Given the description of an element on the screen output the (x, y) to click on. 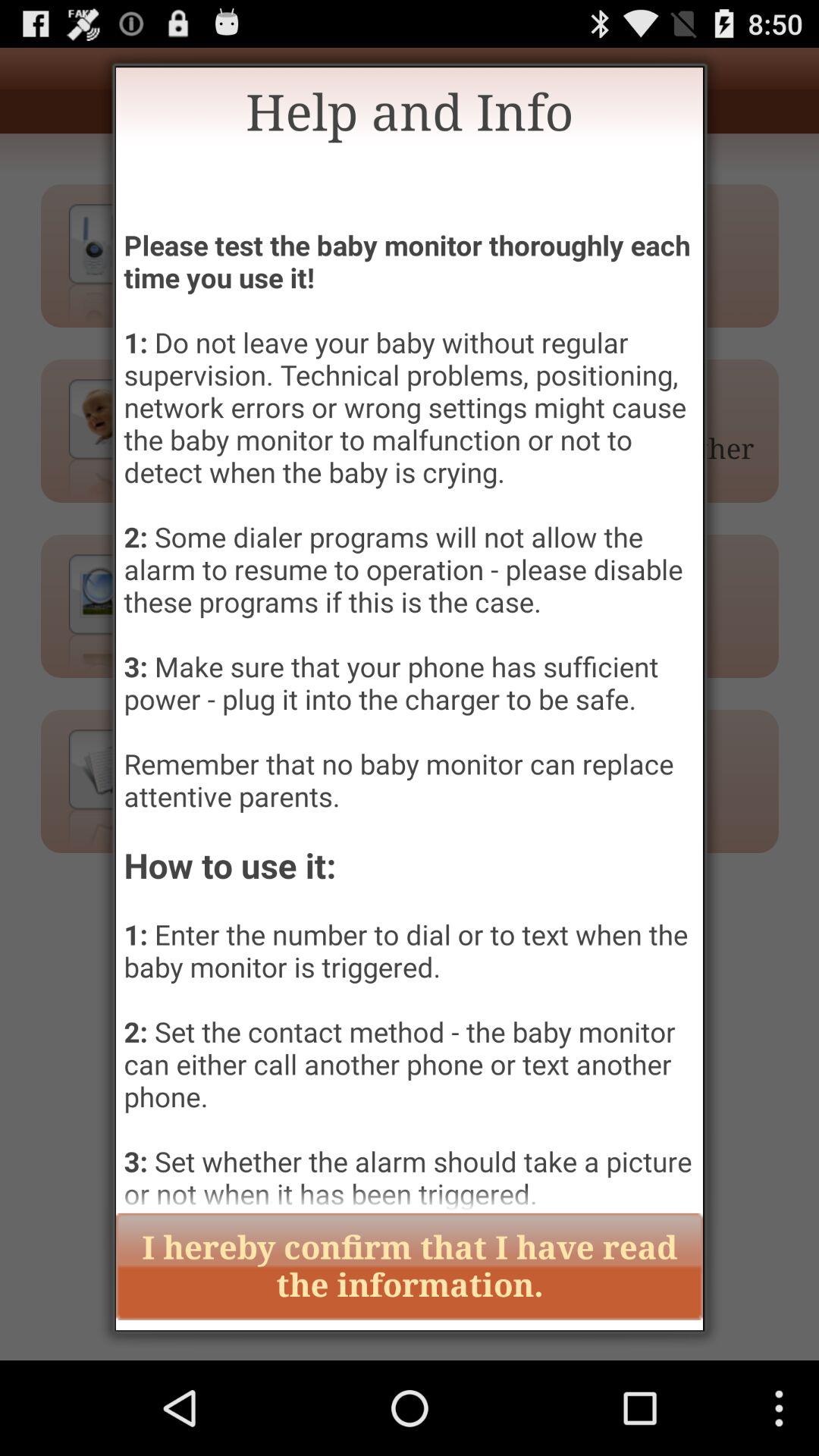
turn on the i hereby confirm item (409, 1266)
